Given the description of an element on the screen output the (x, y) to click on. 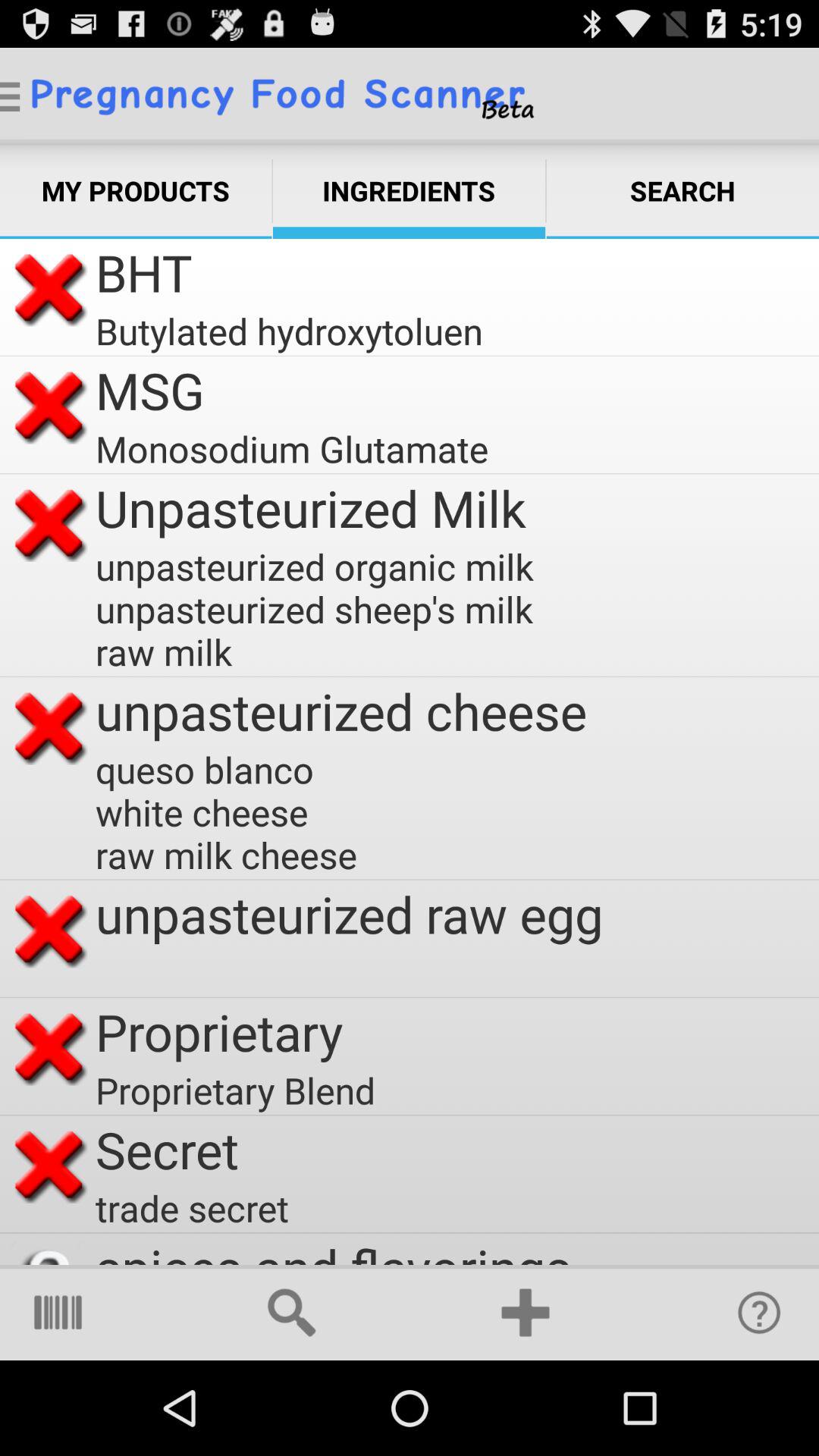
choose spices and flavorings app (333, 1248)
